Given the description of an element on the screen output the (x, y) to click on. 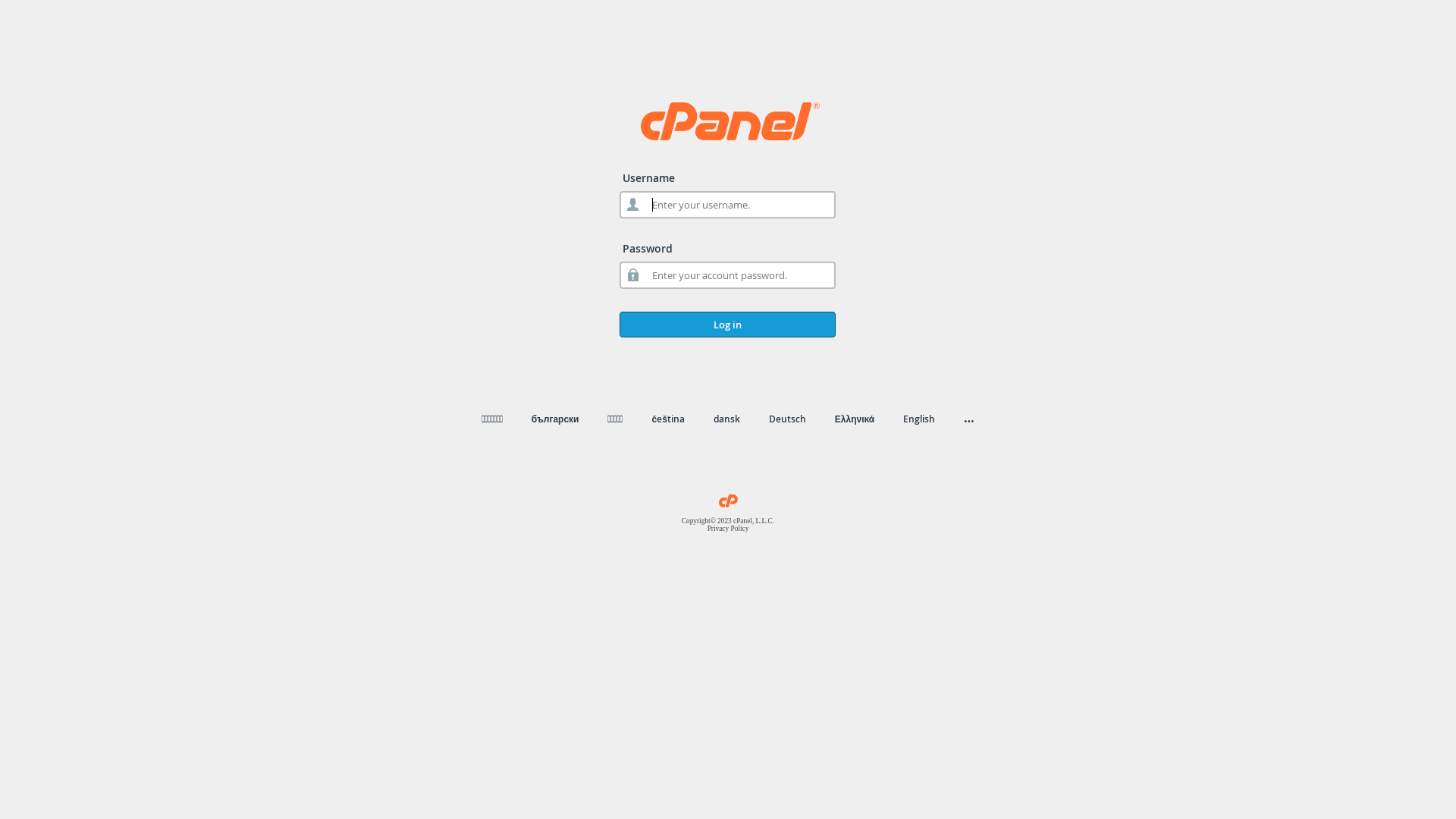
Privacy Policy Element type: text (728, 528)
Deutsch Element type: text (787, 418)
Log in Element type: text (727, 324)
dansk Element type: text (726, 418)
English Element type: text (919, 418)
